Given the description of an element on the screen output the (x, y) to click on. 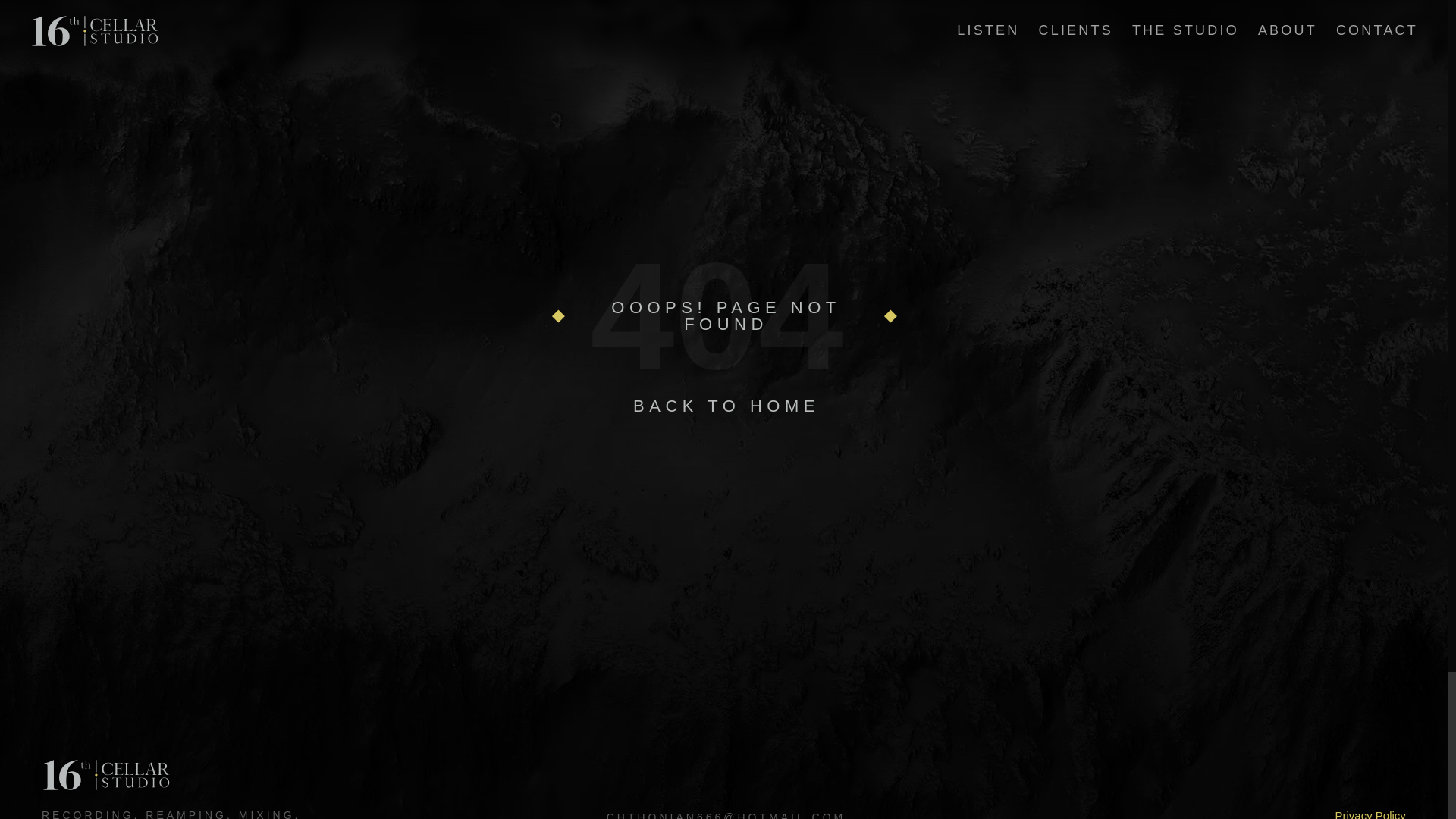
BACK TO HOME Element type: text (726, 405)
ABOUT Element type: text (1287, 30)
LISTEN Element type: text (988, 30)
THE STUDIO Element type: text (1185, 30)
CONTACT Element type: text (1377, 30)
CLIENTS Element type: text (1075, 30)
